Given the description of an element on the screen output the (x, y) to click on. 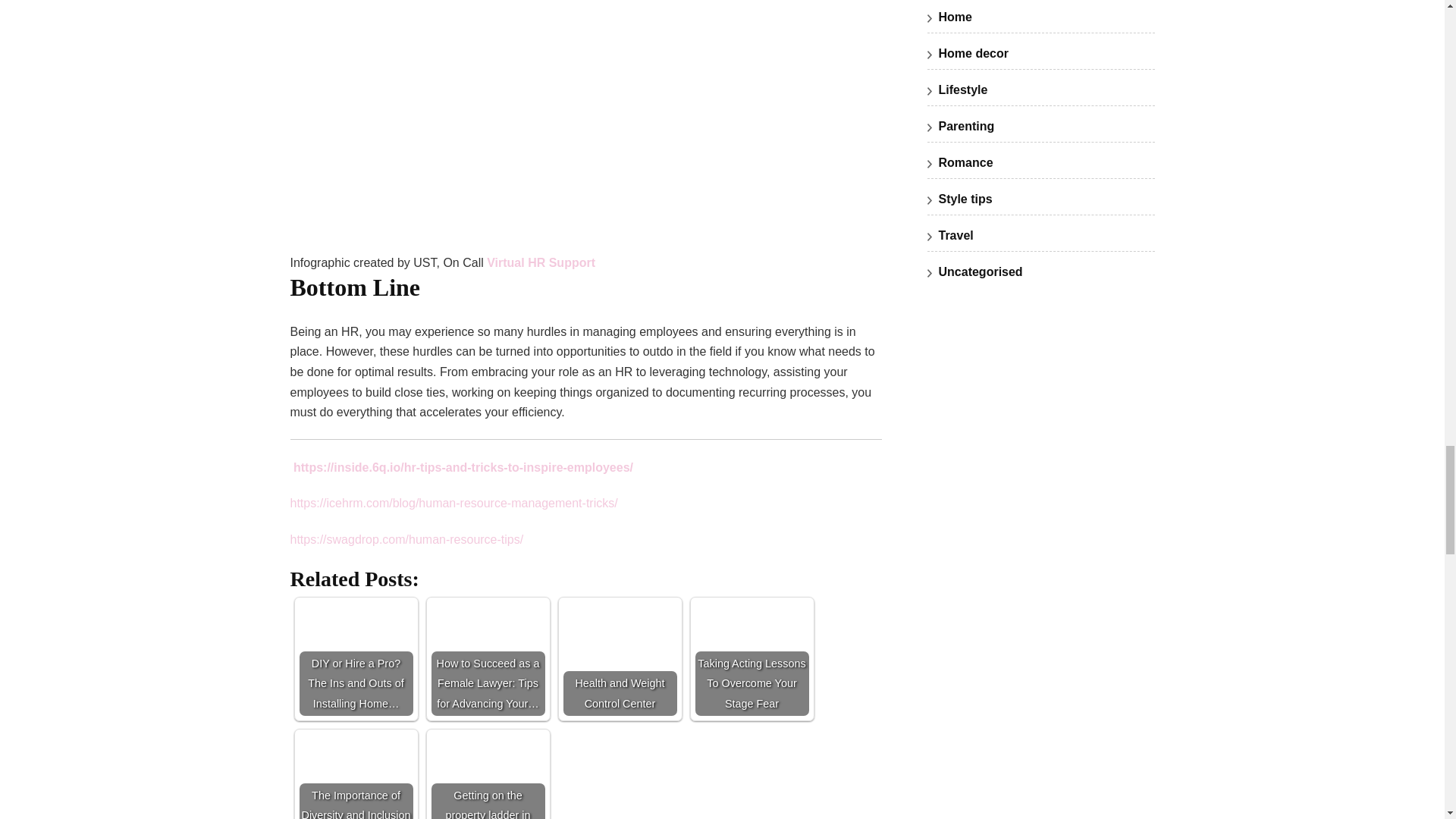
Taking Acting Lessons To Overcome Your Stage Fear (751, 658)
Health and Weight Control Center (619, 658)
Virtual HR Support (540, 262)
Getting on the property ladder in London (487, 776)
